Given the description of an element on the screen output the (x, y) to click on. 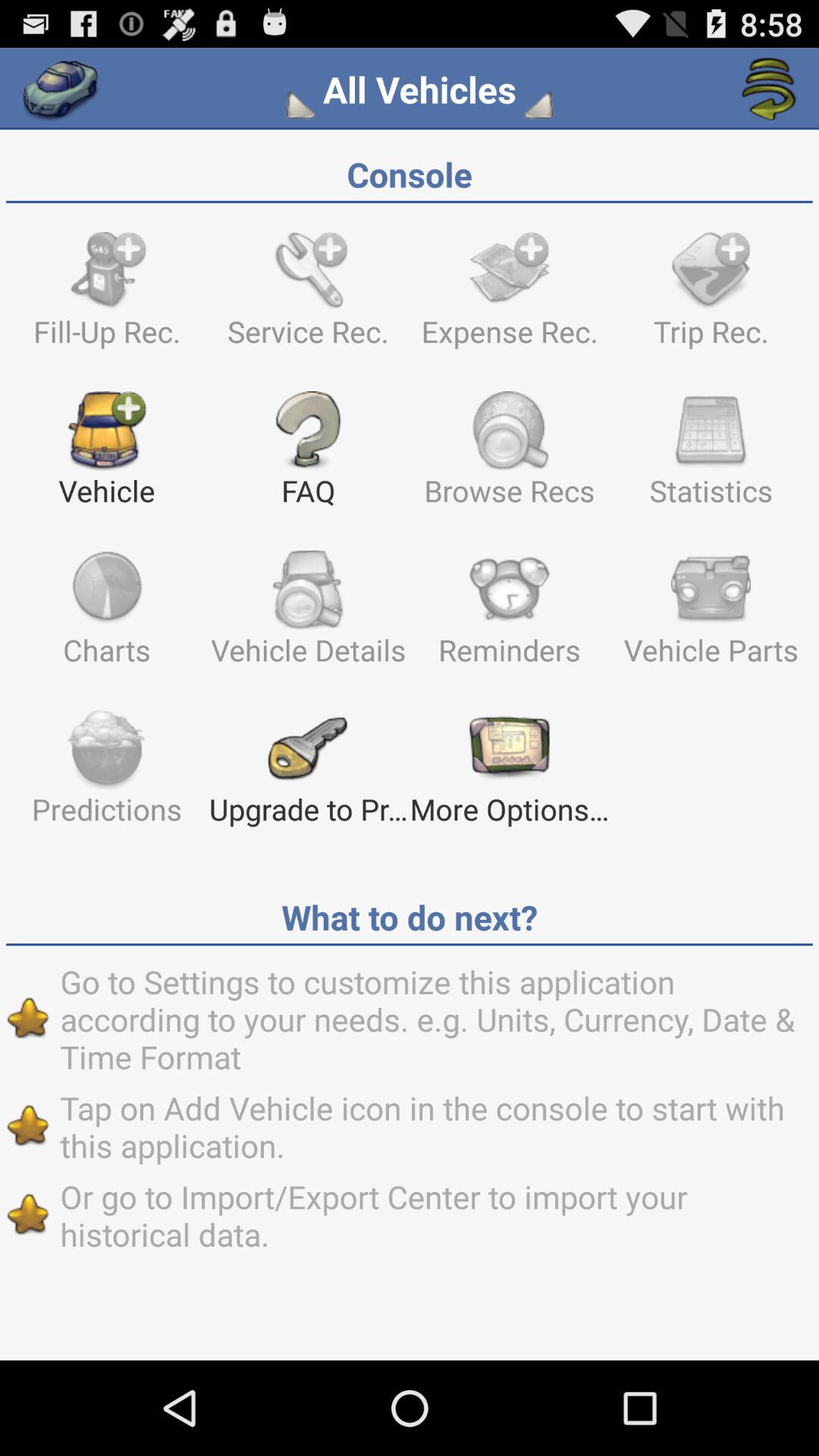
open the app next to predictions icon (307, 773)
